Given the description of an element on the screen output the (x, y) to click on. 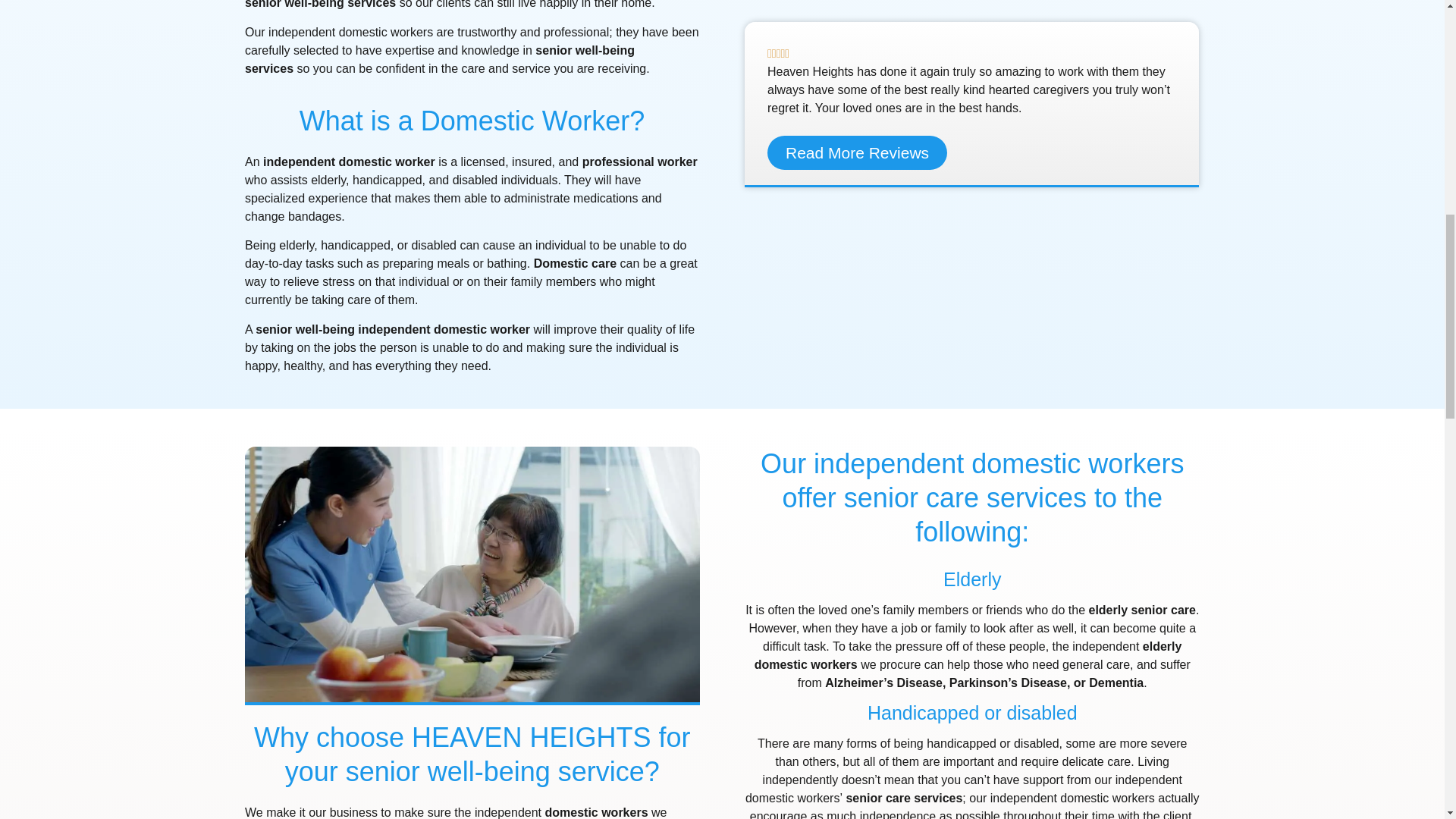
Read More Reviews (857, 152)
